Given the description of an element on the screen output the (x, y) to click on. 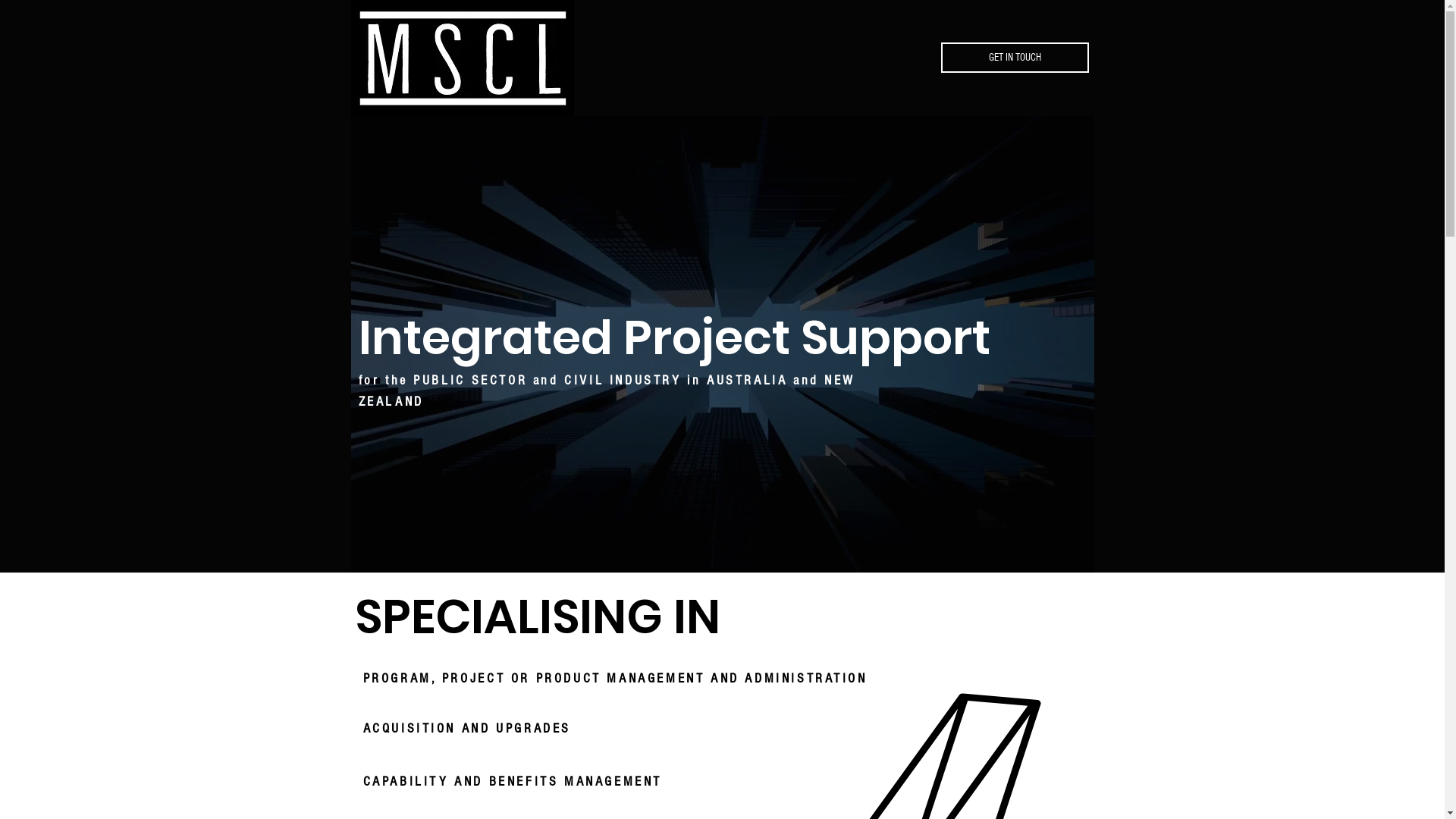
GET IN TOUCH Element type: text (1014, 57)
